Given the description of an element on the screen output the (x, y) to click on. 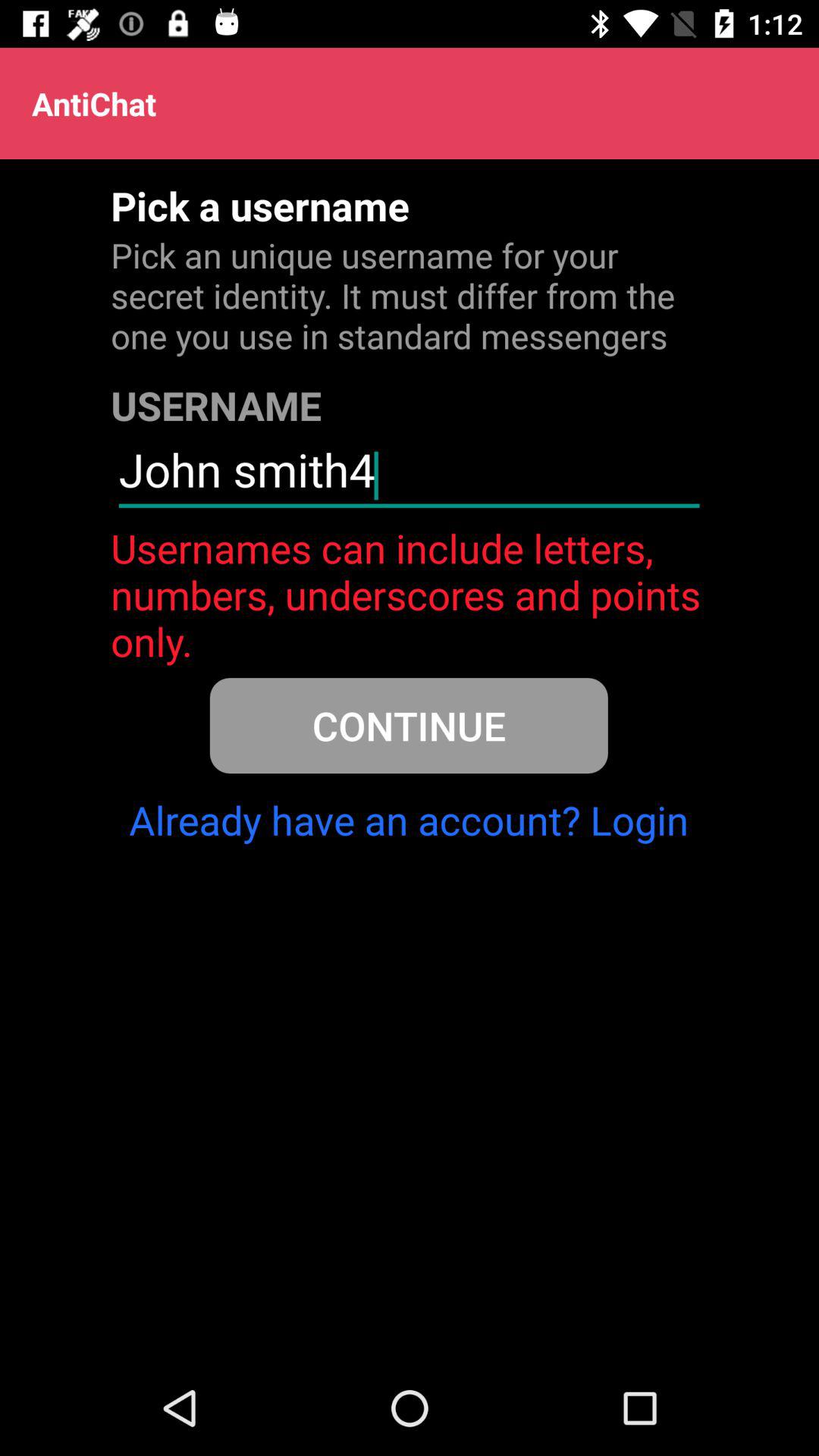
press the continue item (408, 725)
